Given the description of an element on the screen output the (x, y) to click on. 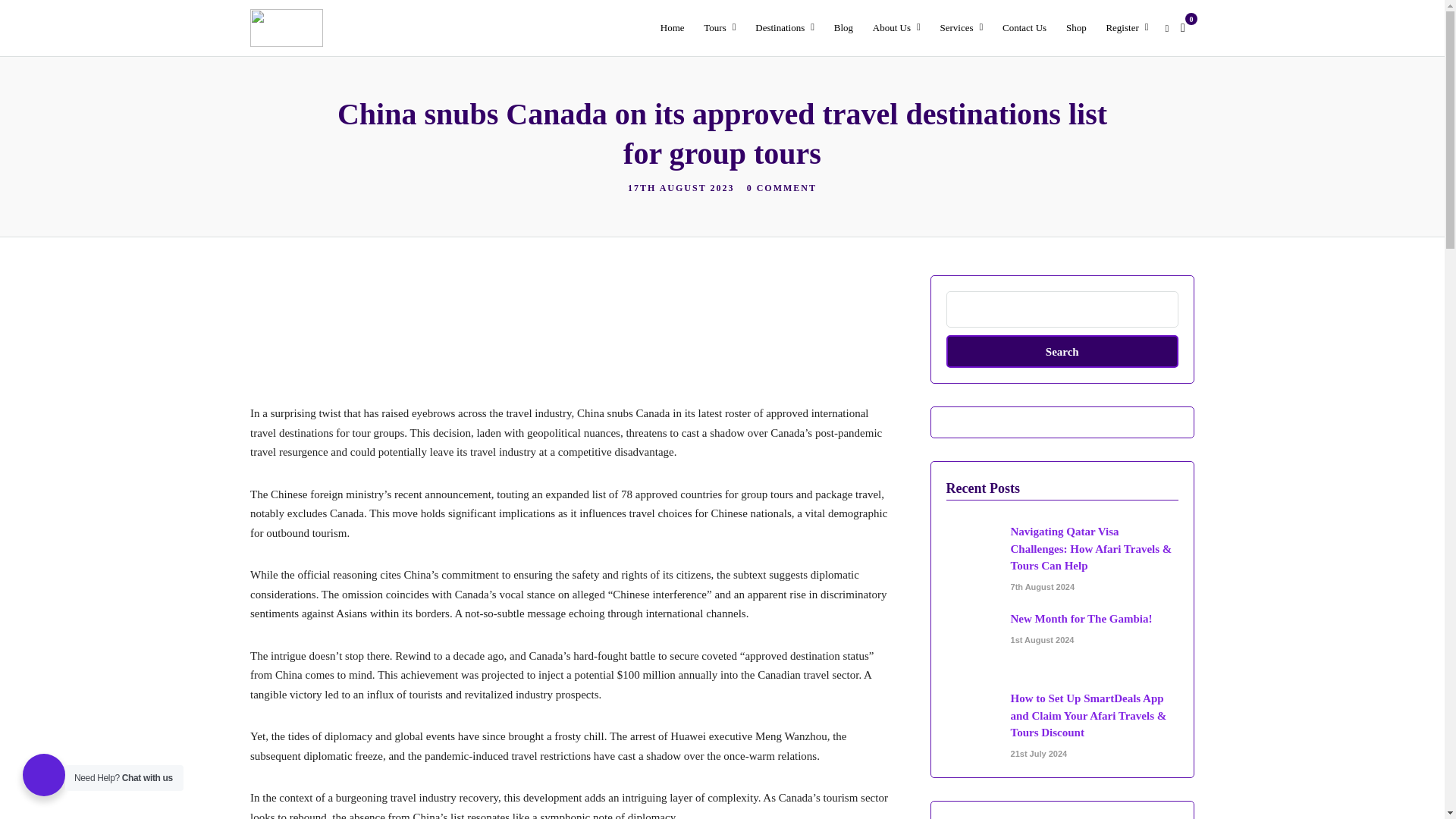
Search (1061, 350)
View Cart (1182, 26)
